Given the description of an element on the screen output the (x, y) to click on. 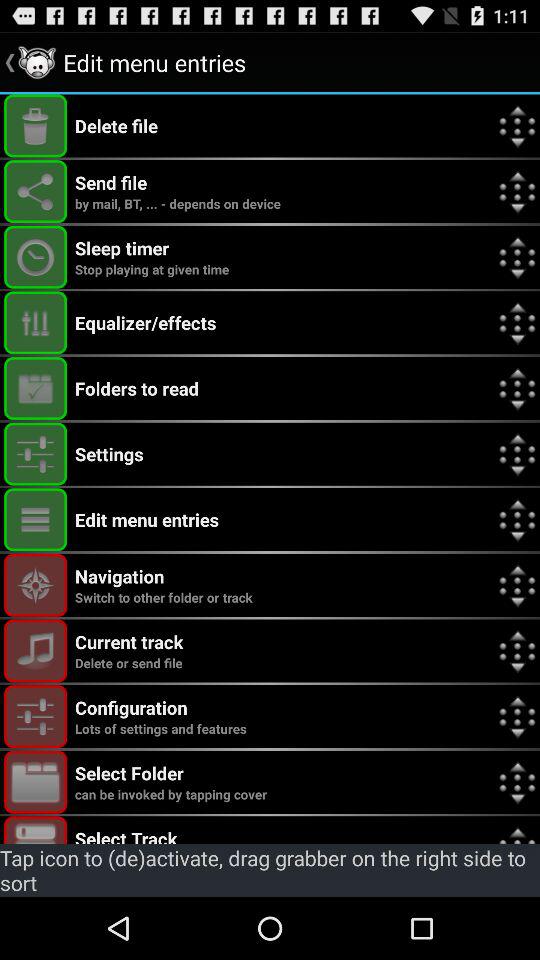
share options (35, 191)
